Given the description of an element on the screen output the (x, y) to click on. 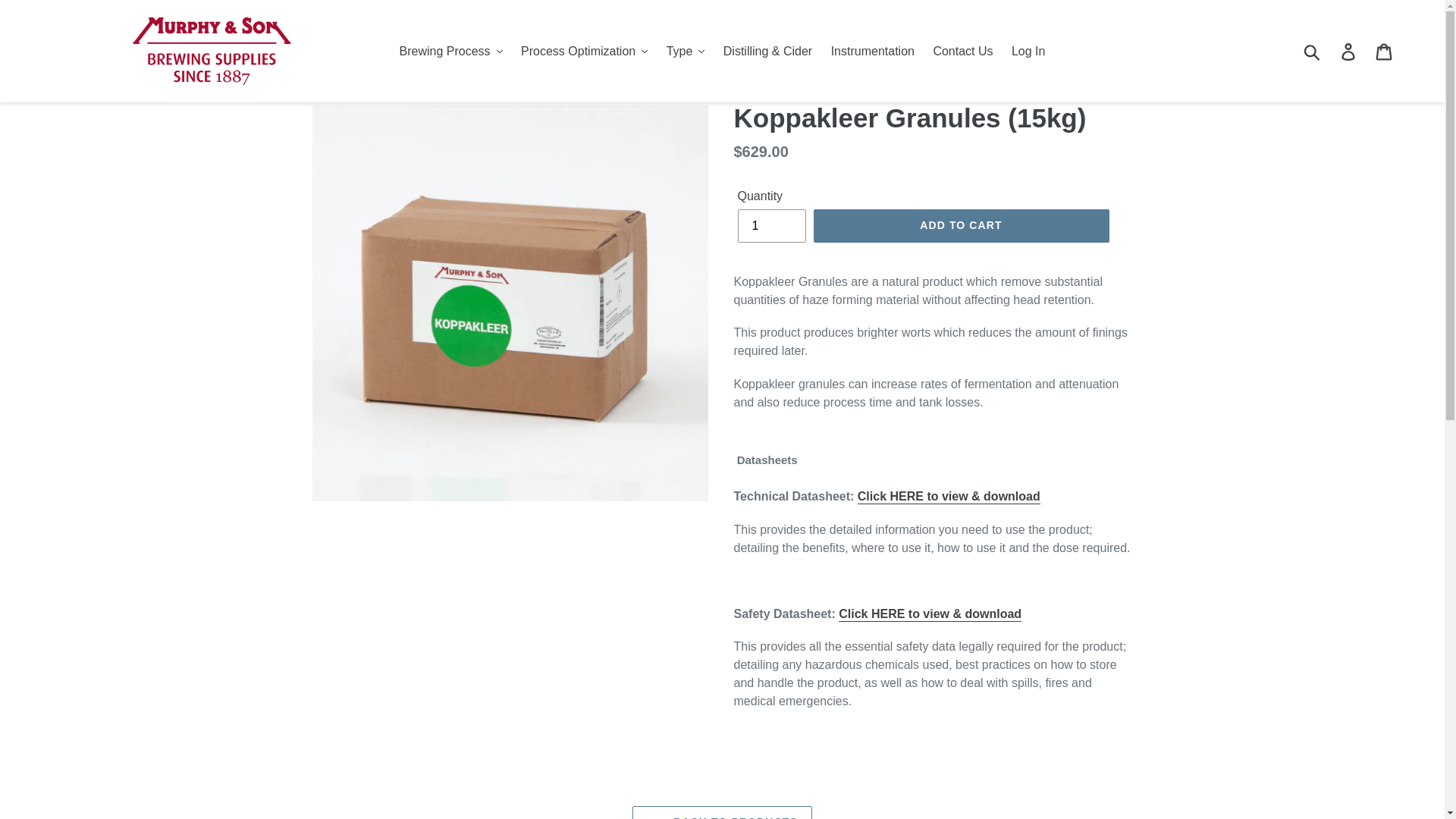
Log in (1349, 50)
Instrumentation (872, 50)
Submit (1313, 50)
Contact Us (962, 50)
SDS (930, 614)
1 (770, 225)
Log In (1028, 50)
TDS (949, 496)
Cart (1385, 50)
